Given the description of an element on the screen output the (x, y) to click on. 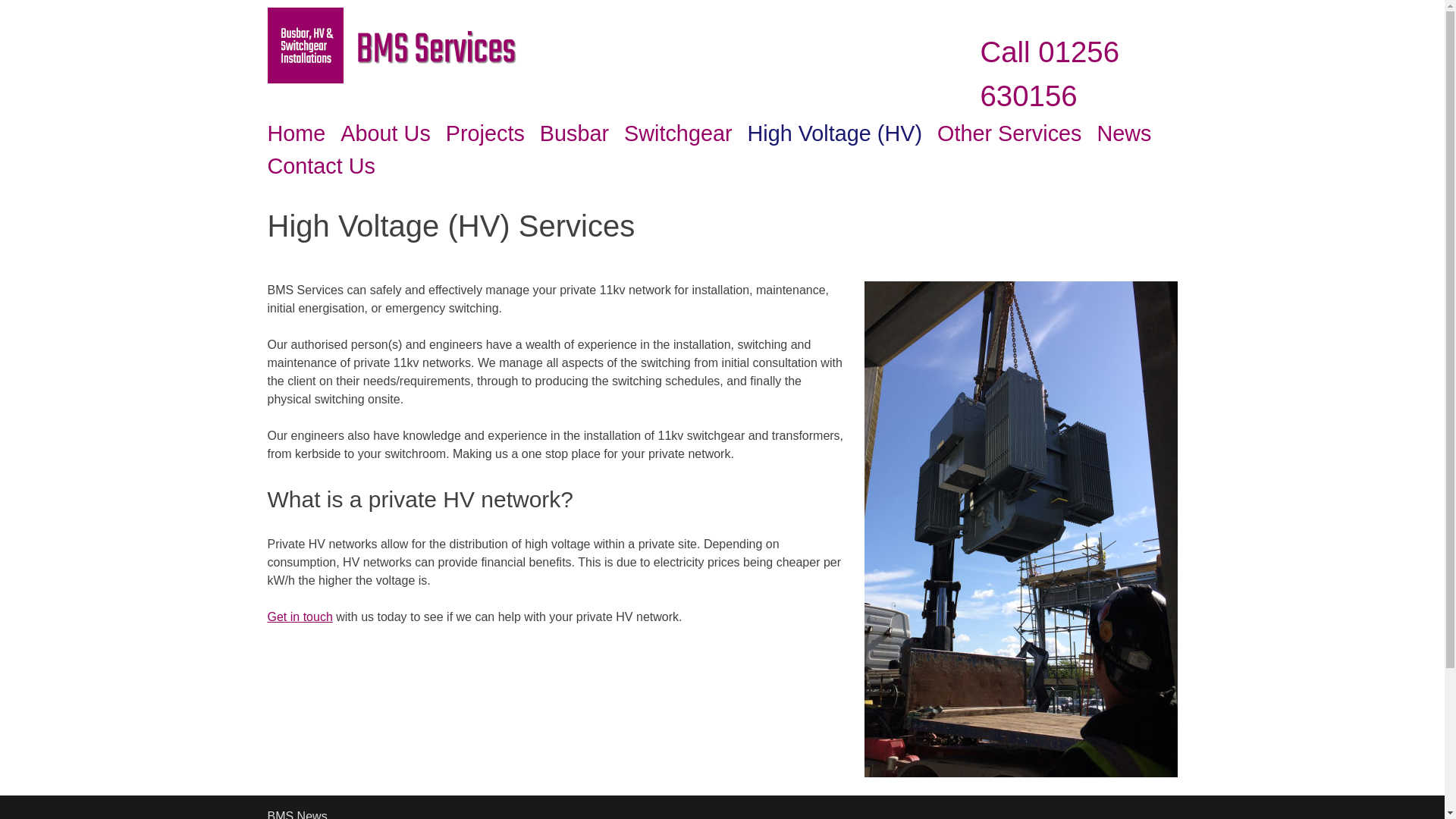
Other Services (1009, 133)
Projects (484, 133)
Contact Us (320, 165)
Get in touch (298, 616)
Home (295, 133)
About Us (384, 133)
News (1123, 133)
Busbar (574, 133)
BMS News (296, 814)
Call 01256 630156 (1049, 74)
Switchgear (678, 133)
